Given the description of an element on the screen output the (x, y) to click on. 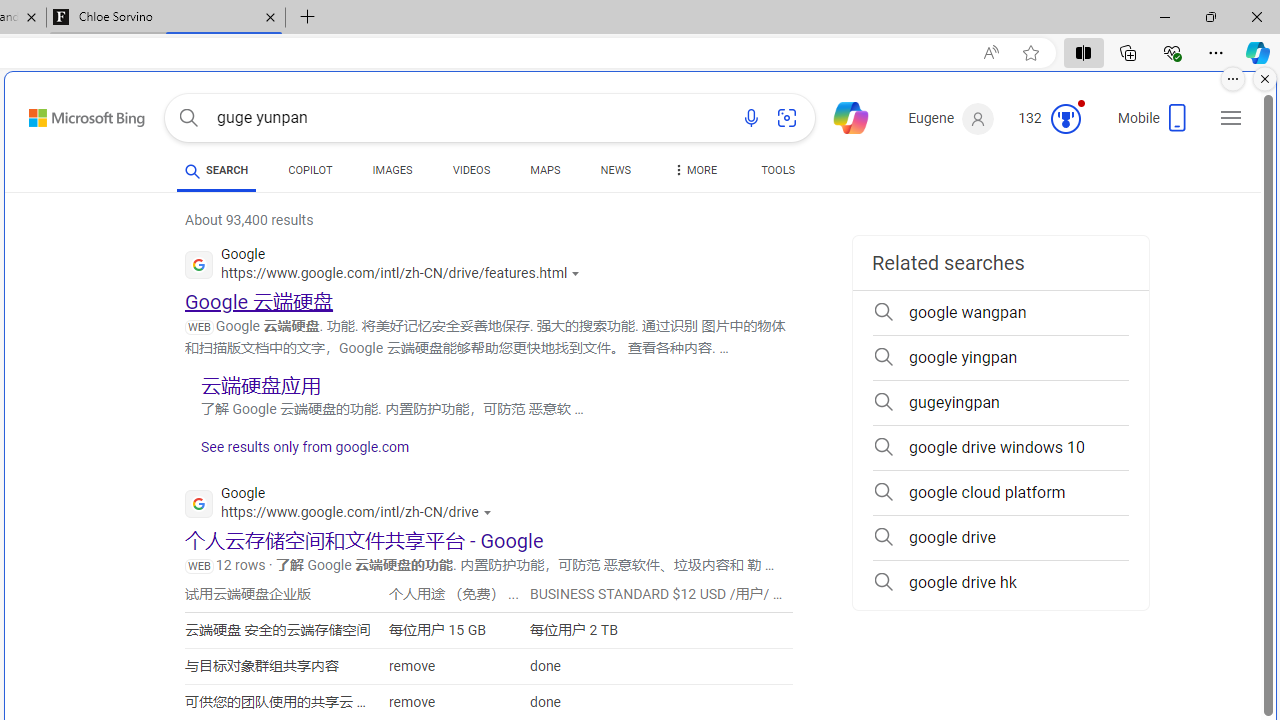
Microsoft Rewards 123 (1052, 119)
google cloud platform (1000, 492)
Eugene (950, 119)
gugeyingpan (1000, 402)
TOOLS (777, 170)
Browser essentials (1171, 52)
Search using an image (787, 117)
google wangpan (1000, 312)
MAPS (545, 170)
Class: outer-circle-animation (1065, 118)
Collections (1128, 52)
